Given the description of an element on the screen output the (x, y) to click on. 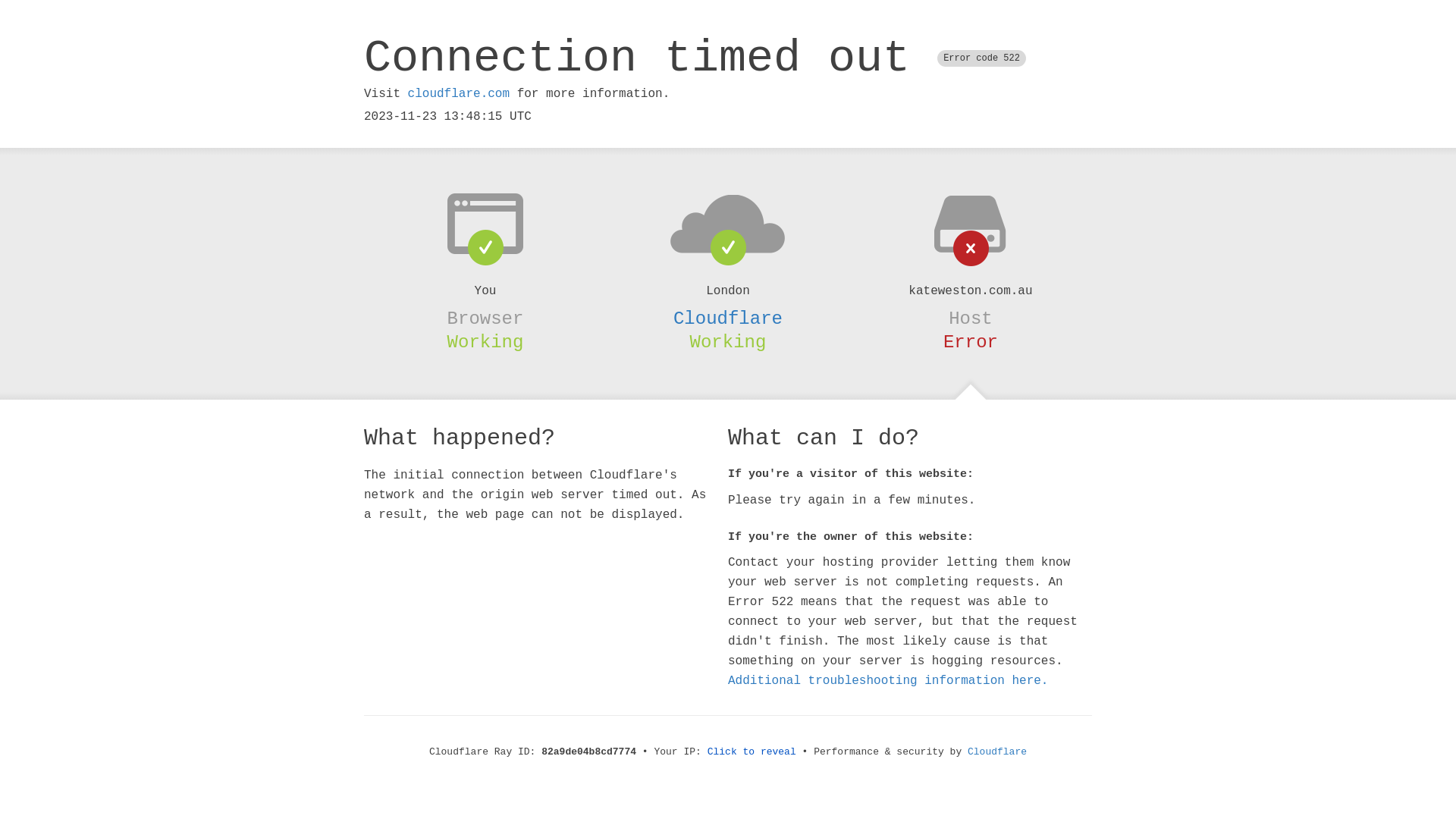
Cloudflare Element type: text (996, 751)
cloudflare.com Element type: text (458, 93)
Click to reveal Element type: text (751, 751)
Cloudflare Element type: text (727, 318)
Additional troubleshooting information here. Element type: text (888, 680)
